Given the description of an element on the screen output the (x, y) to click on. 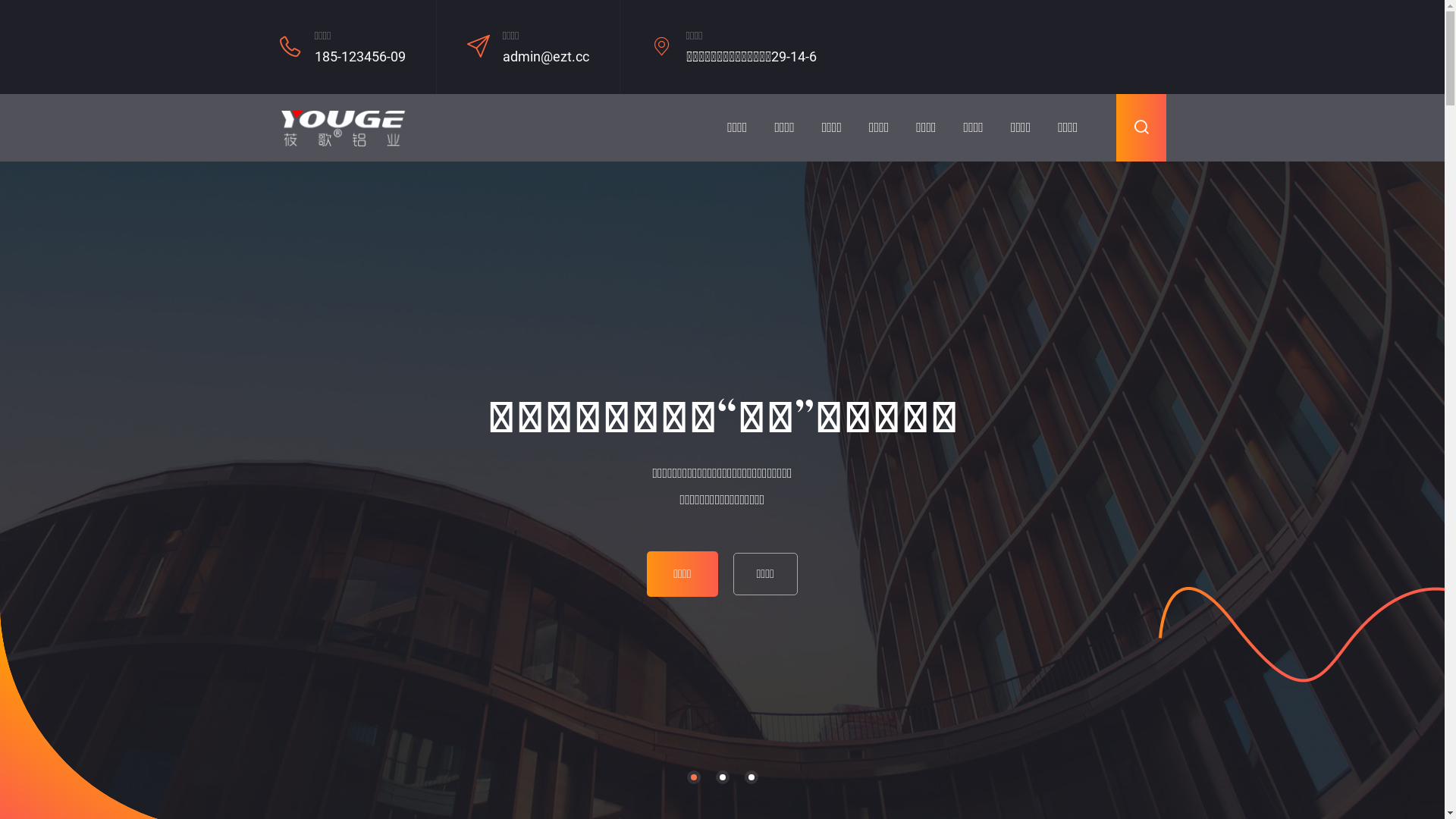
admin@ezt.cc Element type: text (545, 56)
185-123456-09 Element type: text (358, 56)
